Given the description of an element on the screen output the (x, y) to click on. 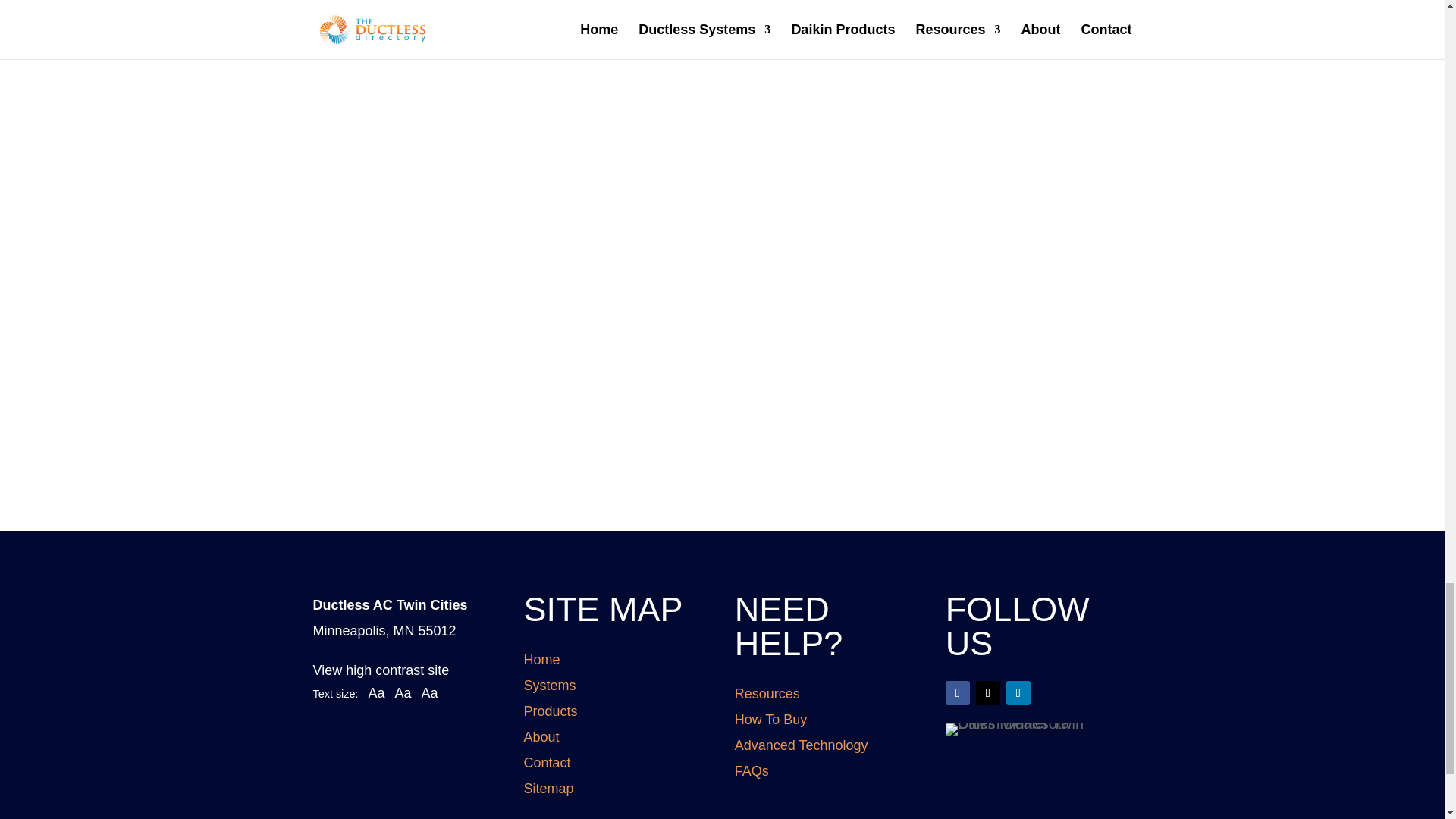
Follow on Facebook (956, 692)
Home (542, 659)
How To Buy (771, 719)
YouTube player (722, 7)
About (541, 736)
Sitemap (548, 788)
Systems (550, 685)
Resources (767, 693)
Follow on Twitter (987, 692)
Products (551, 710)
Contact (547, 762)
Follow on LinkedIn (1018, 692)
